Given the description of an element on the screen output the (x, y) to click on. 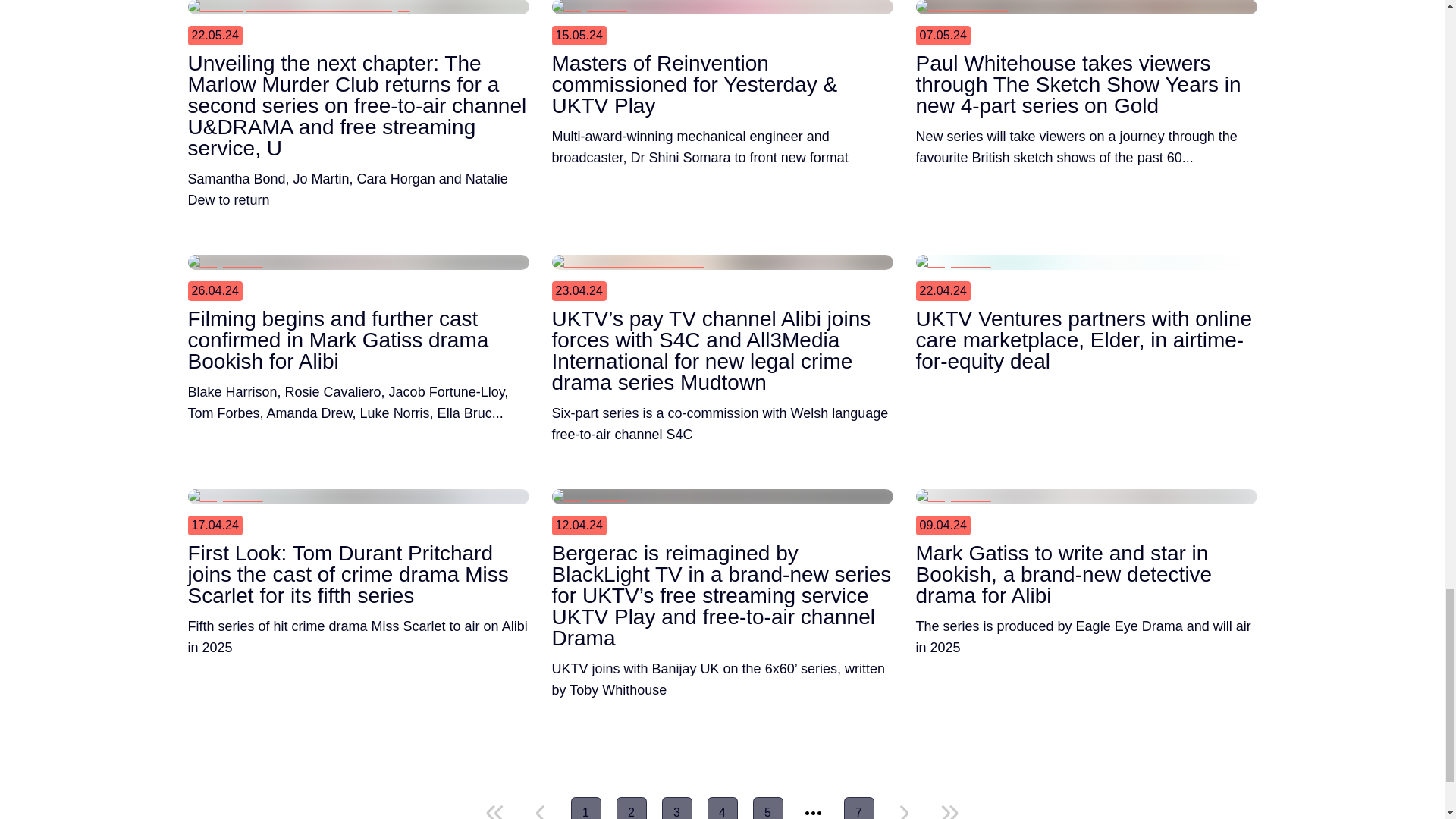
default (540, 811)
default (949, 811)
default (904, 811)
default (493, 811)
